Given the description of an element on the screen output the (x, y) to click on. 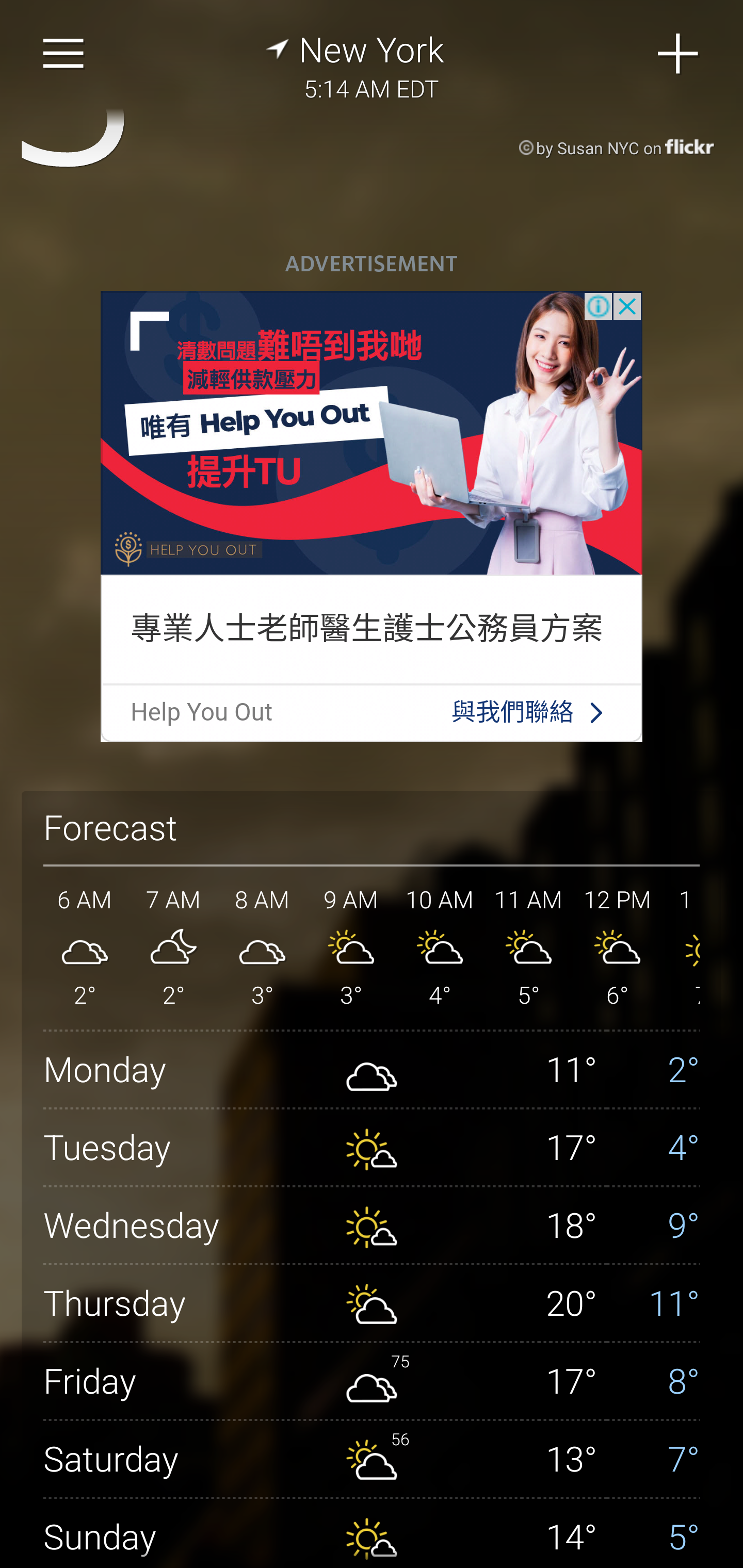
Sidebar (64, 54)
Add City (678, 53)
專業人士老師醫生護士公務員方案 (366, 627)
Help You Out (201, 711)
與我們聯絡 (513, 711)
